Given the description of an element on the screen output the (x, y) to click on. 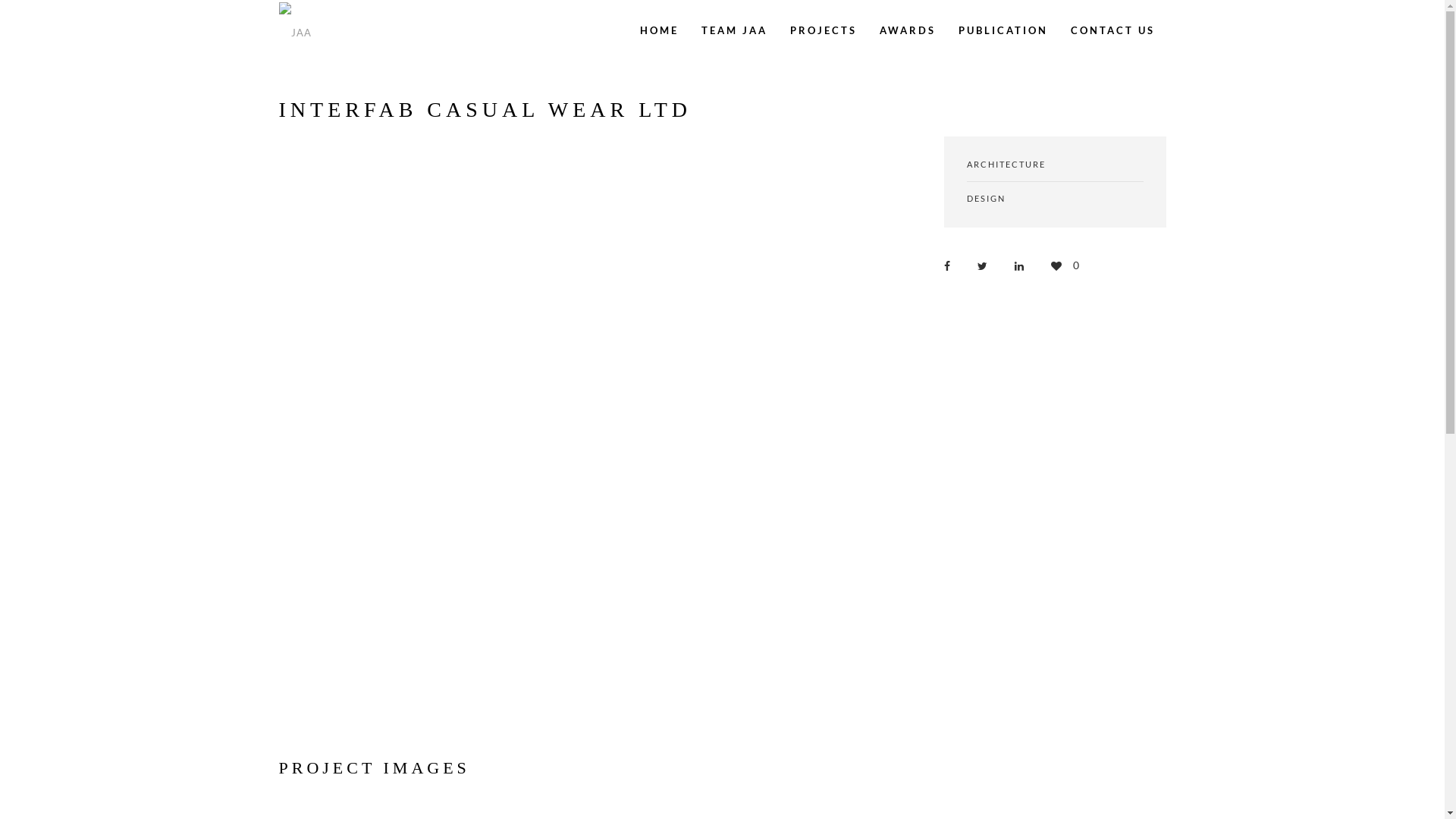
INTERFAB CASUAL WEAR LTD Element type: hover (1023, 264)
INTERFAB CASUAL WEAR LTD Element type: hover (951, 264)
HOME Element type: text (658, 30)
CONTACT US Element type: text (1111, 30)
AWARDS Element type: text (906, 30)
TEAM JAA Element type: text (734, 30)
PROJECTS Element type: text (822, 30)
INTERFAB CASUAL WEAR LTD Element type: hover (986, 264)
0 Element type: text (1065, 264)
JAA Element type: hover (297, 29)
PUBLICATION Element type: text (1002, 30)
